Given the description of an element on the screen output the (x, y) to click on. 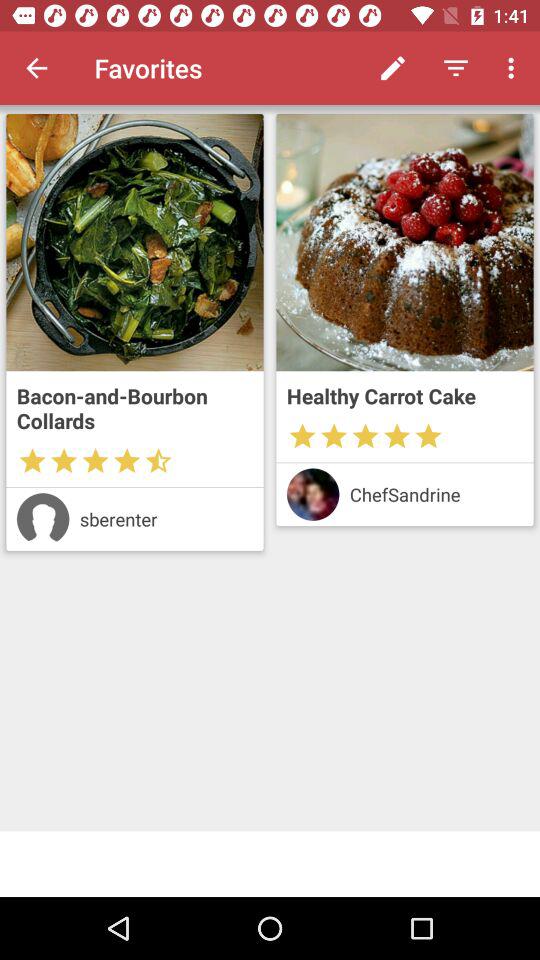
view profile (42, 519)
